Given the description of an element on the screen output the (x, y) to click on. 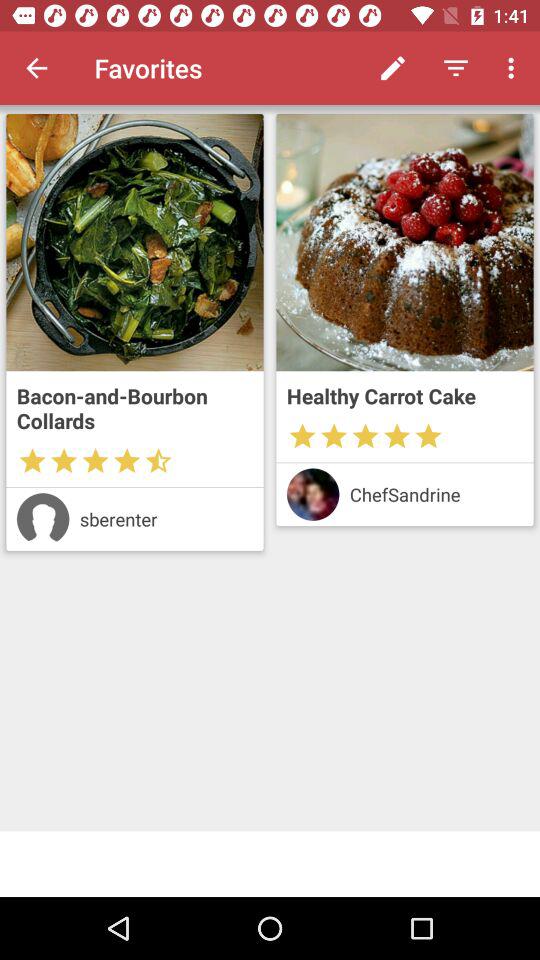
view profile (42, 519)
